Given the description of an element on the screen output the (x, y) to click on. 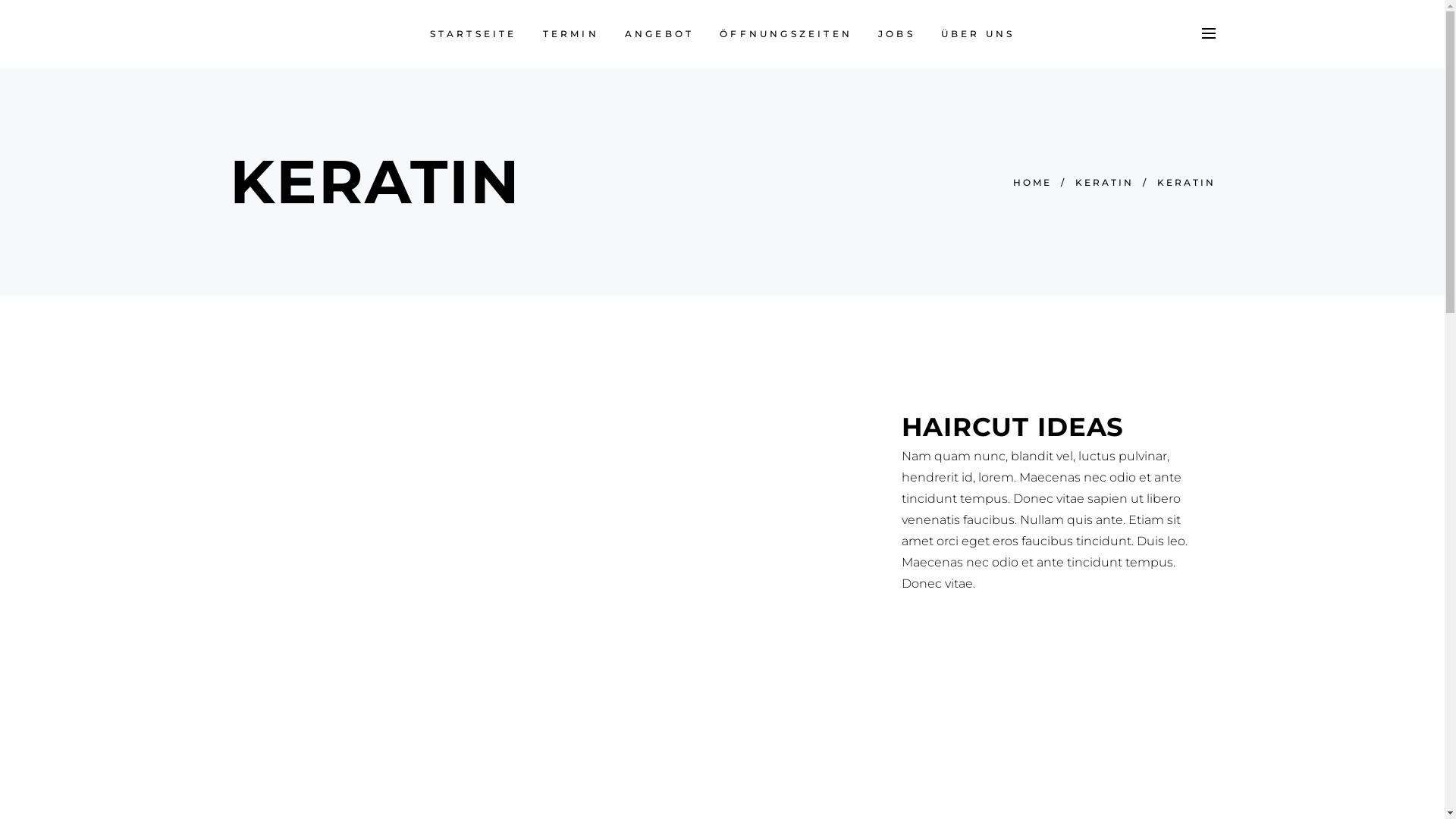
HOME Element type: text (1032, 182)
ANGEBOT Element type: text (658, 34)
TERMIN Element type: text (570, 34)
KERATIN Element type: text (1104, 182)
JOBS Element type: text (896, 34)
STARTSEITE Element type: text (473, 34)
port-gallery-img-2 Element type: hover (553, 571)
